Given the description of an element on the screen output the (x, y) to click on. 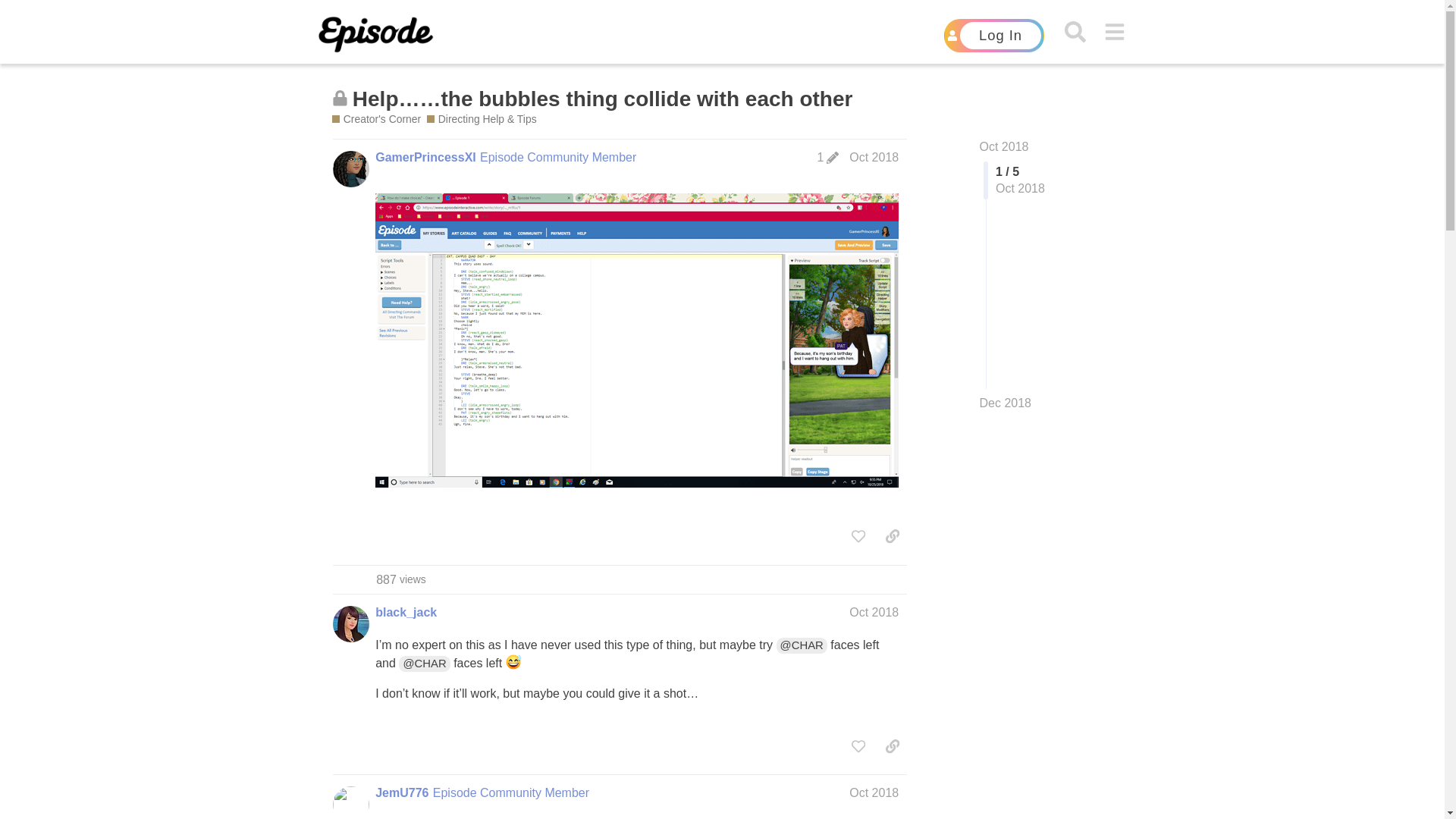
GamerPrincessXI (425, 157)
copy a link to this post to clipboard (892, 535)
Dec 2018 (1005, 402)
Log In (993, 35)
JemU776 (401, 792)
1 (827, 157)
This topic is archived; it is frozen and cannot be changed (339, 98)
post last edited on Oct 26, 2018 9:52 pm (827, 157)
Post date (873, 156)
Oct 2018 (873, 156)
